Given the description of an element on the screen output the (x, y) to click on. 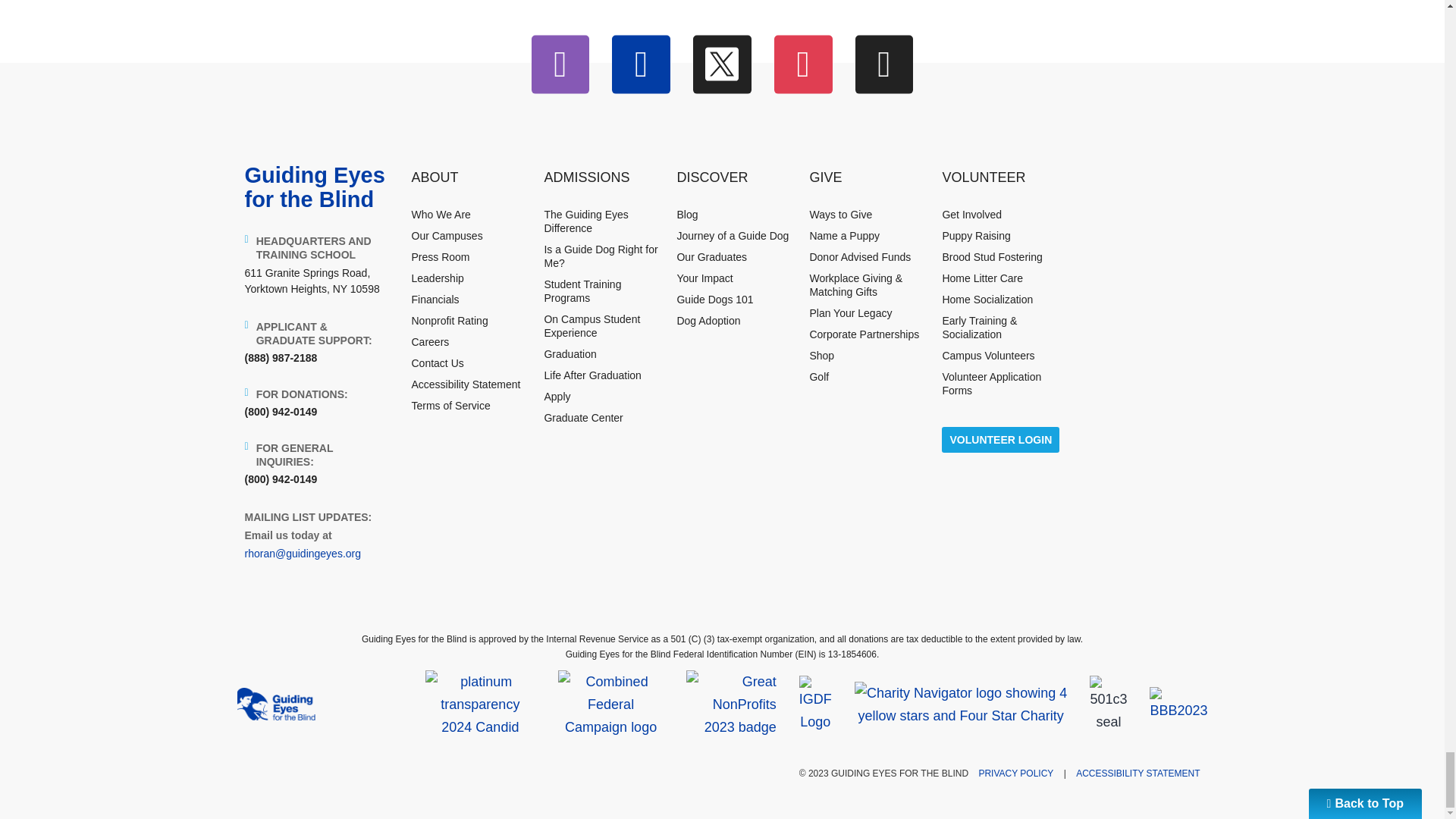
Plan Your Legacy (850, 313)
Candid-seal-2024-200 (480, 704)
Instagram (560, 65)
2023-top-rated-awards-badge-embed (730, 704)
Twitter (722, 65)
Facebook (640, 65)
Youtube (803, 65)
